Given the description of an element on the screen output the (x, y) to click on. 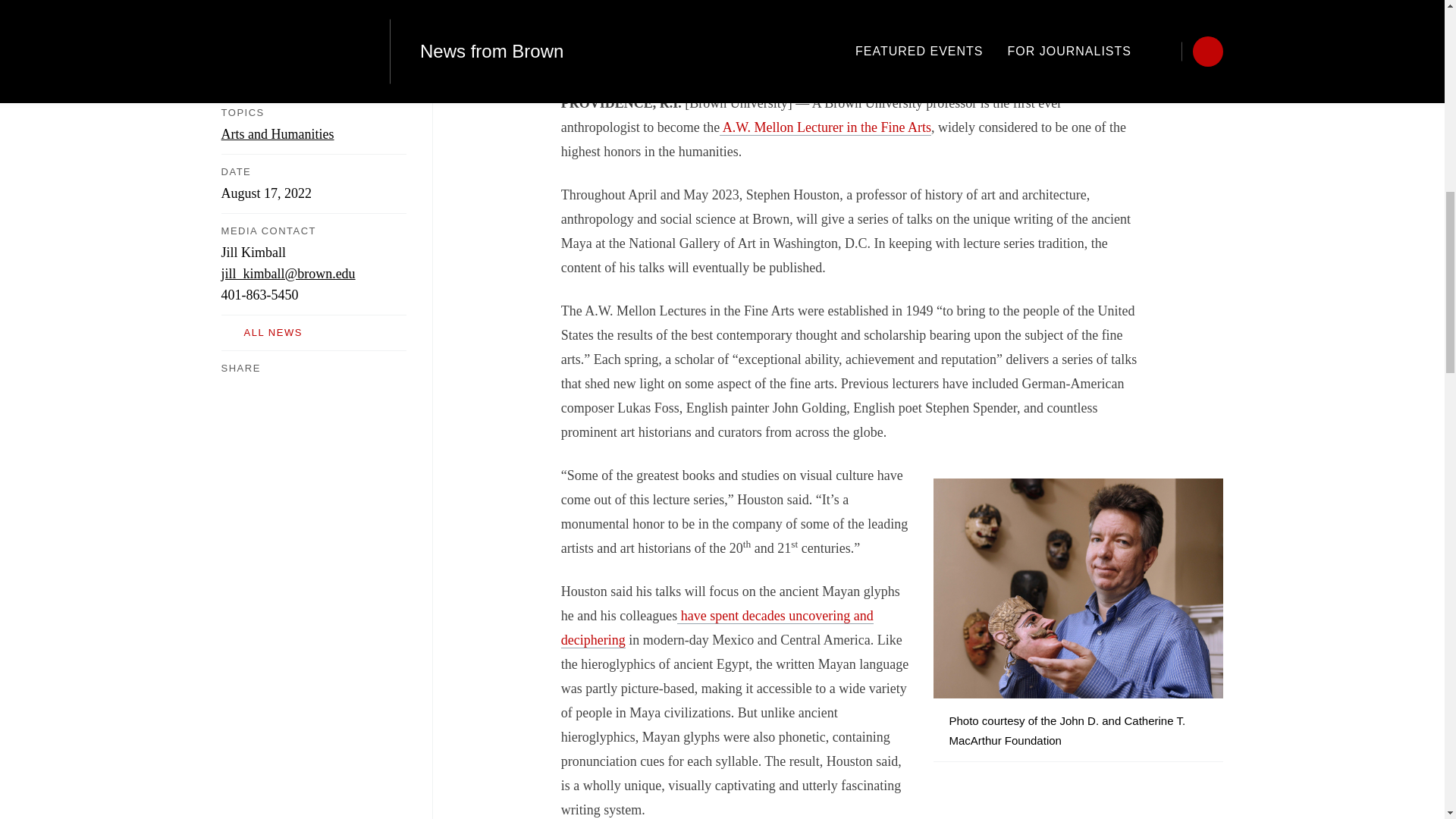
A.W. Mellon Lecturer in the Fine Arts (825, 127)
have spent decades uncovering and deciphering (716, 628)
